Given the description of an element on the screen output the (x, y) to click on. 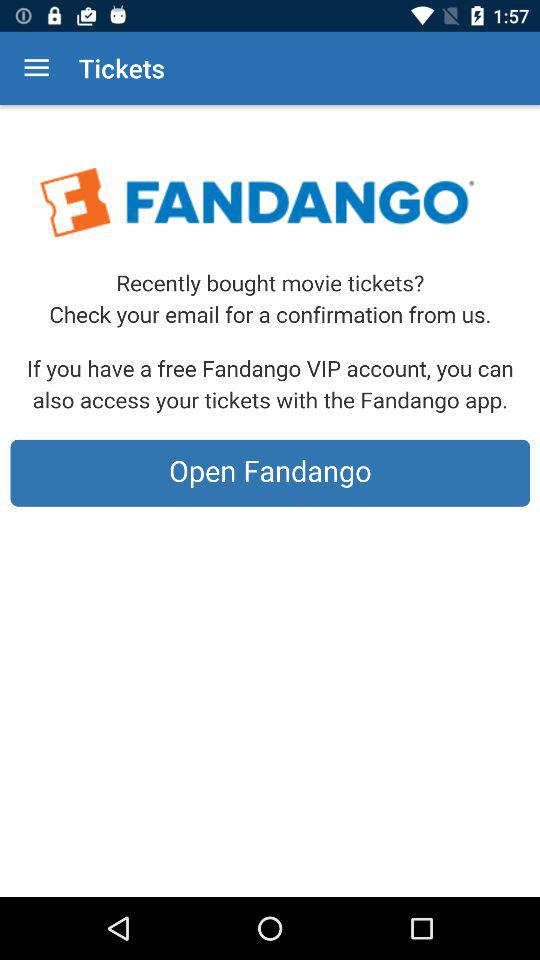
share the article (270, 501)
